Given the description of an element on the screen output the (x, y) to click on. 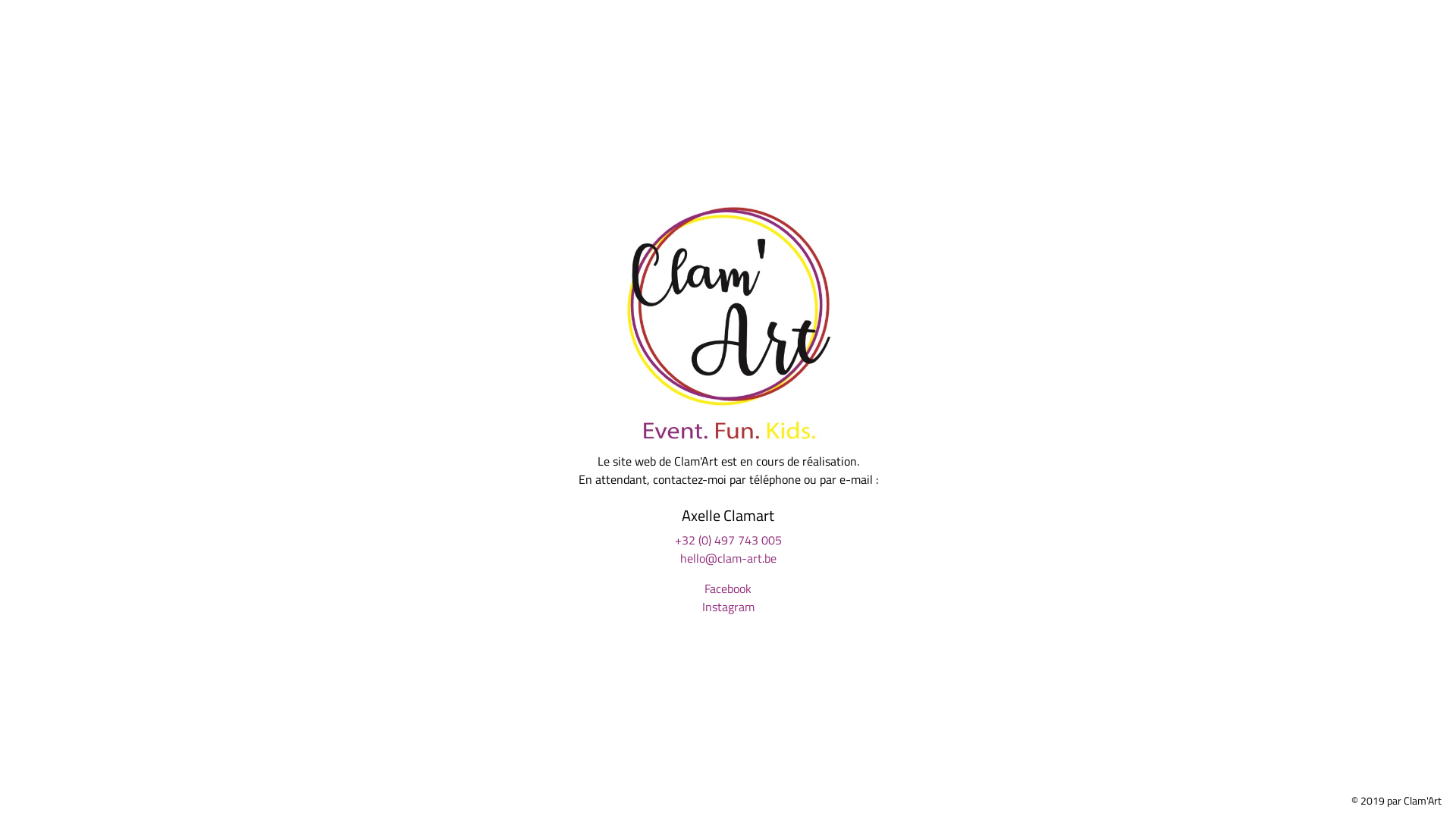
hello@clam-art.be Element type: text (727, 558)
+32 (0) 497 743 005 Element type: text (727, 540)
Facebook Element type: text (727, 589)
Instagram Element type: text (727, 607)
